Given the description of an element on the screen output the (x, y) to click on. 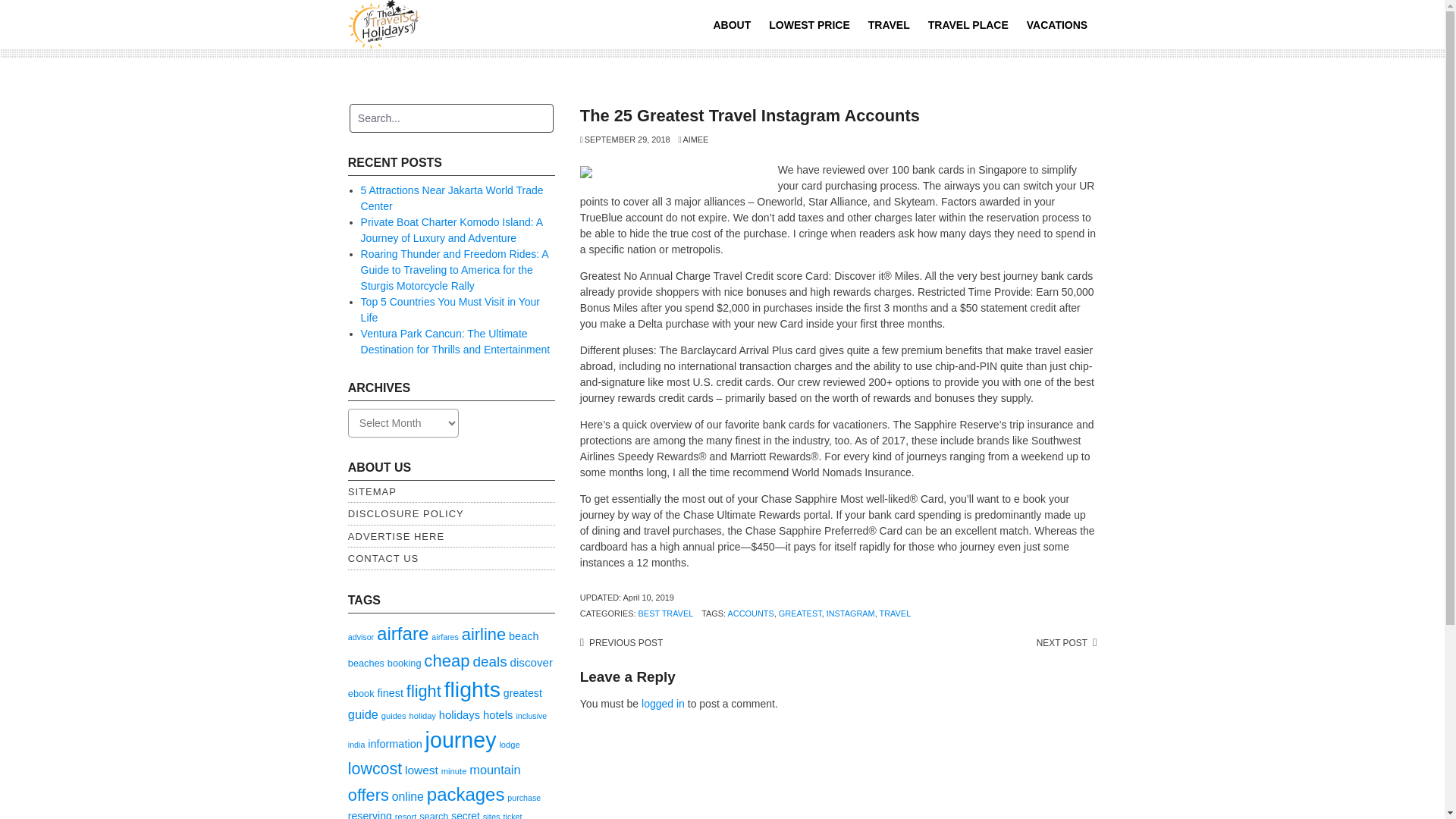
ABOUT (731, 24)
TRAVEL PLACE (967, 24)
SEPTEMBER 29, 2018 (624, 139)
ACCOUNTS (751, 613)
Search for: (451, 118)
GREATEST (800, 613)
BEST TRAVEL (666, 613)
INSTAGRAM (851, 613)
TRAVEL (888, 24)
April 10, 2019 (648, 596)
TRAVEL (895, 613)
VACATIONS (1056, 24)
AIMEE (692, 139)
LOWEST PRICE (809, 24)
